Given the description of an element on the screen output the (x, y) to click on. 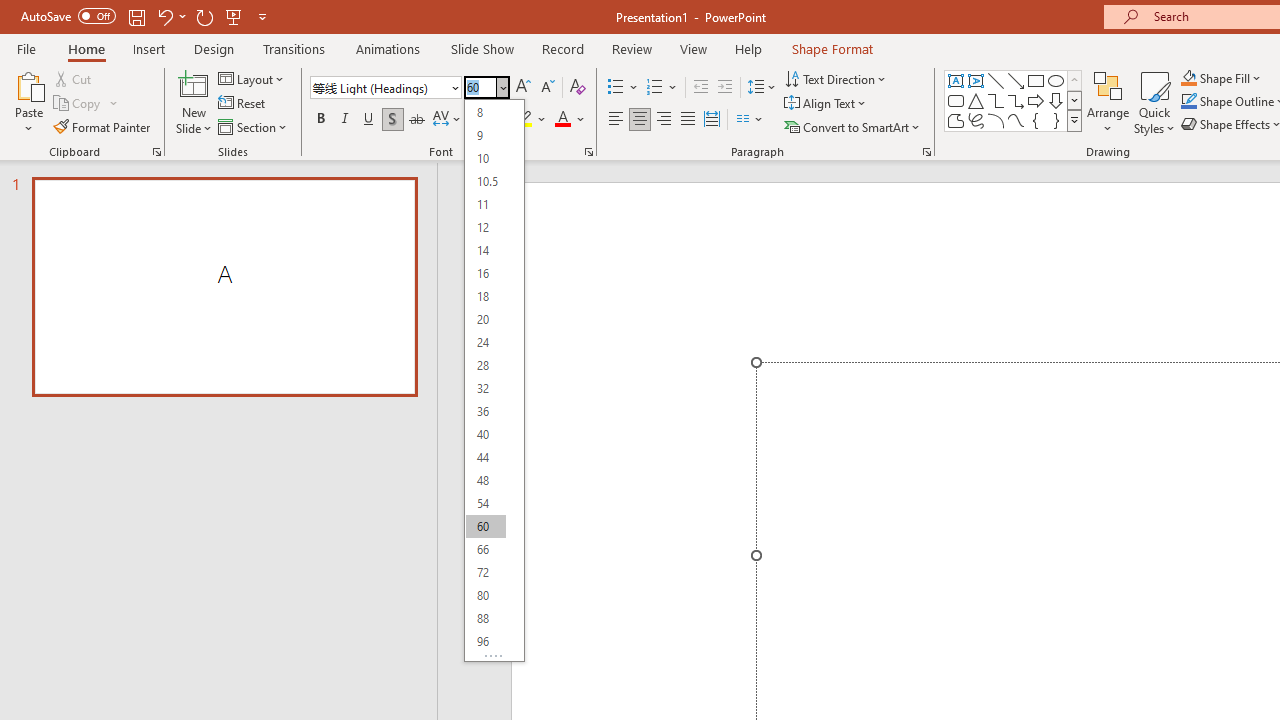
9 (485, 134)
88 (485, 618)
10 (485, 157)
